Given the description of an element on the screen output the (x, y) to click on. 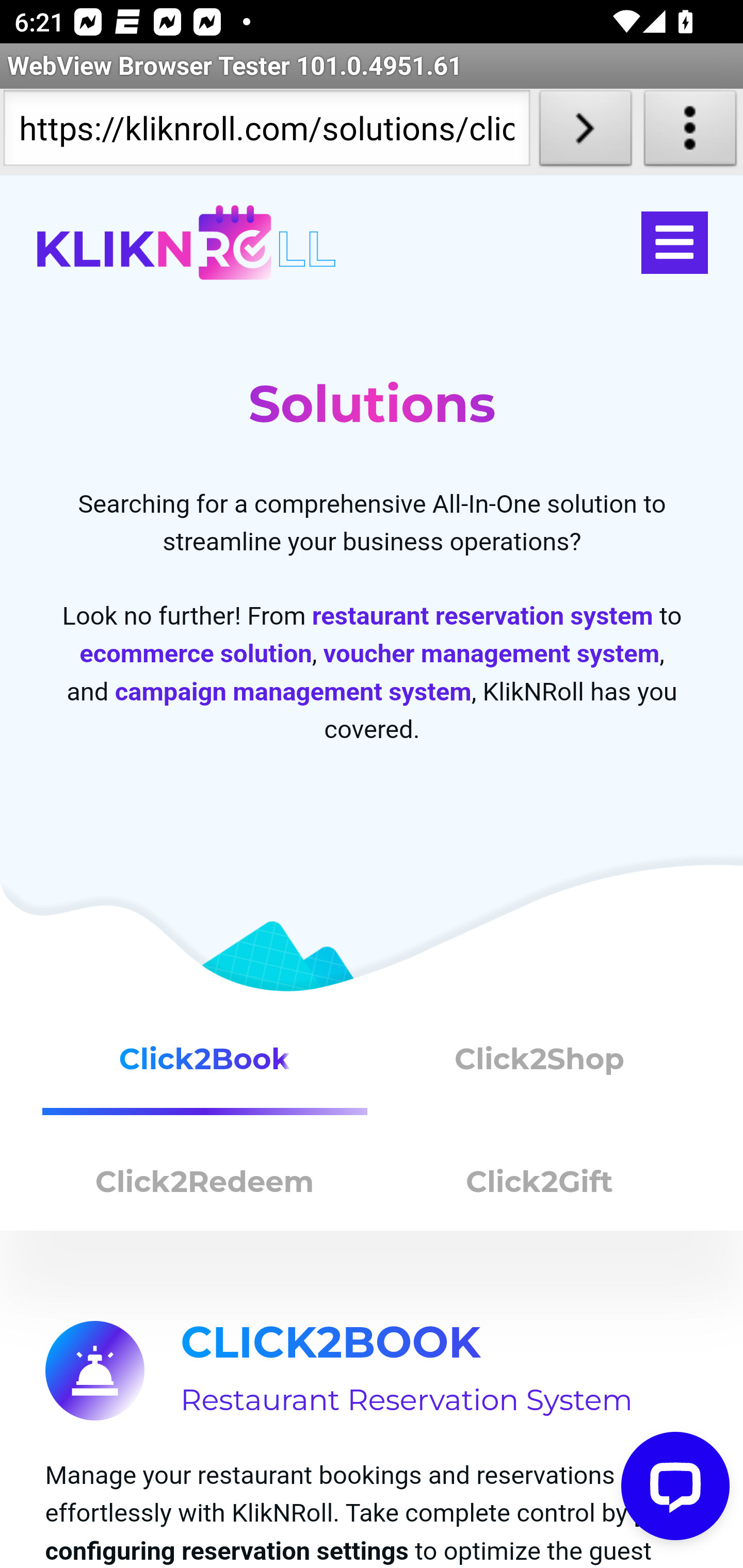
Load URL (585, 132)
About WebView (690, 132)
kliknroll (185, 242)
 (673, 242)
Click2Book (204, 1066)
Click2Shop (540, 1066)
Click2Redeem (204, 1185)
Click2Gift (540, 1185)
Open LiveChat chat widget (676, 1486)
